Given the description of an element on the screen output the (x, y) to click on. 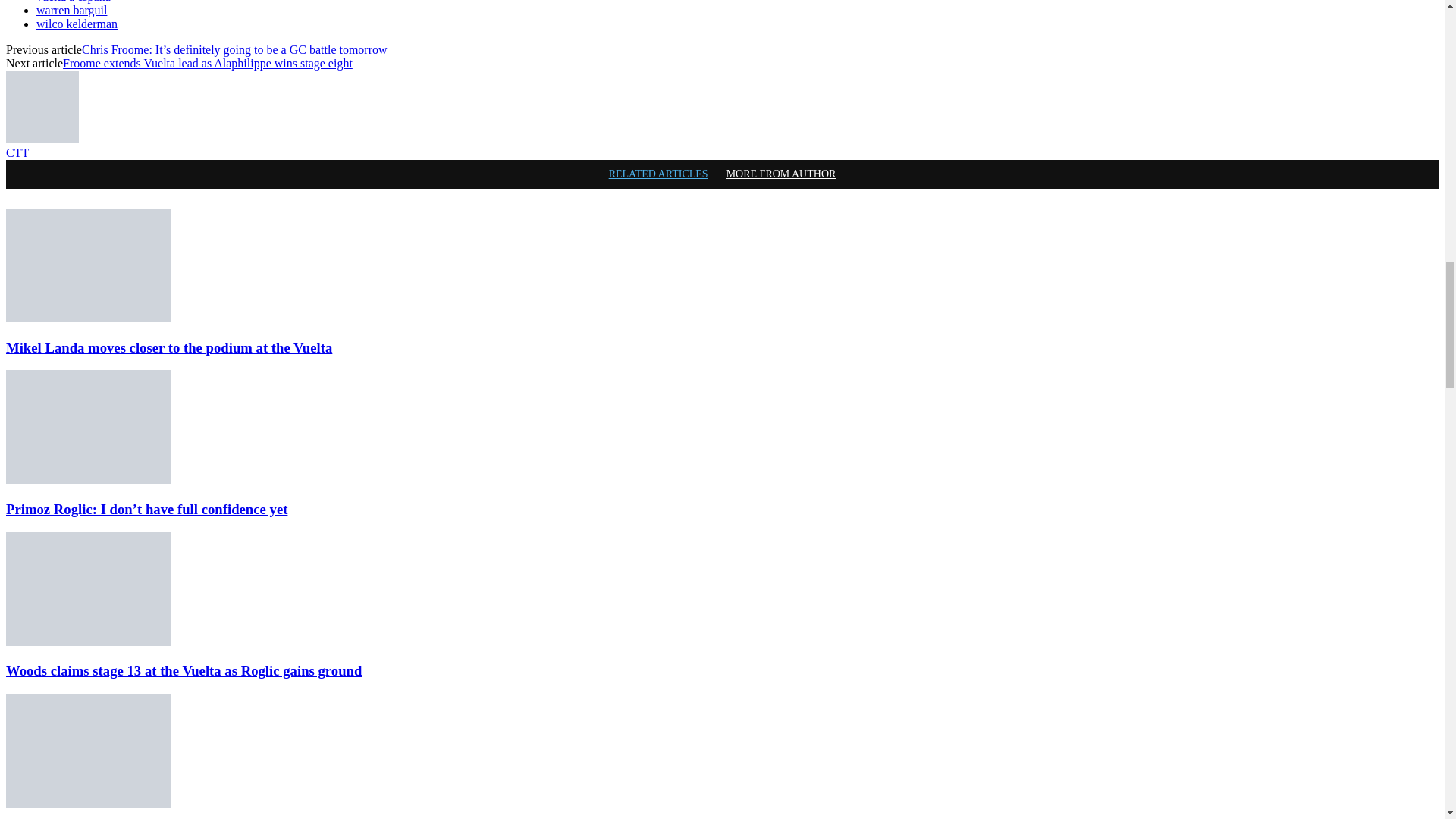
Woods claims stage 13 at the Vuelta as Roglic gains ground (88, 589)
Mikel Landa moves closer to the podium at the Vuelta (168, 347)
Mikel Landa moves closer to the podium at the Vuelta (88, 265)
Woods claims stage 13 at the Vuelta as Roglic gains ground (88, 641)
Mikel Landa moves closer to the podium at the Vuelta (88, 318)
